Given the description of an element on the screen output the (x, y) to click on. 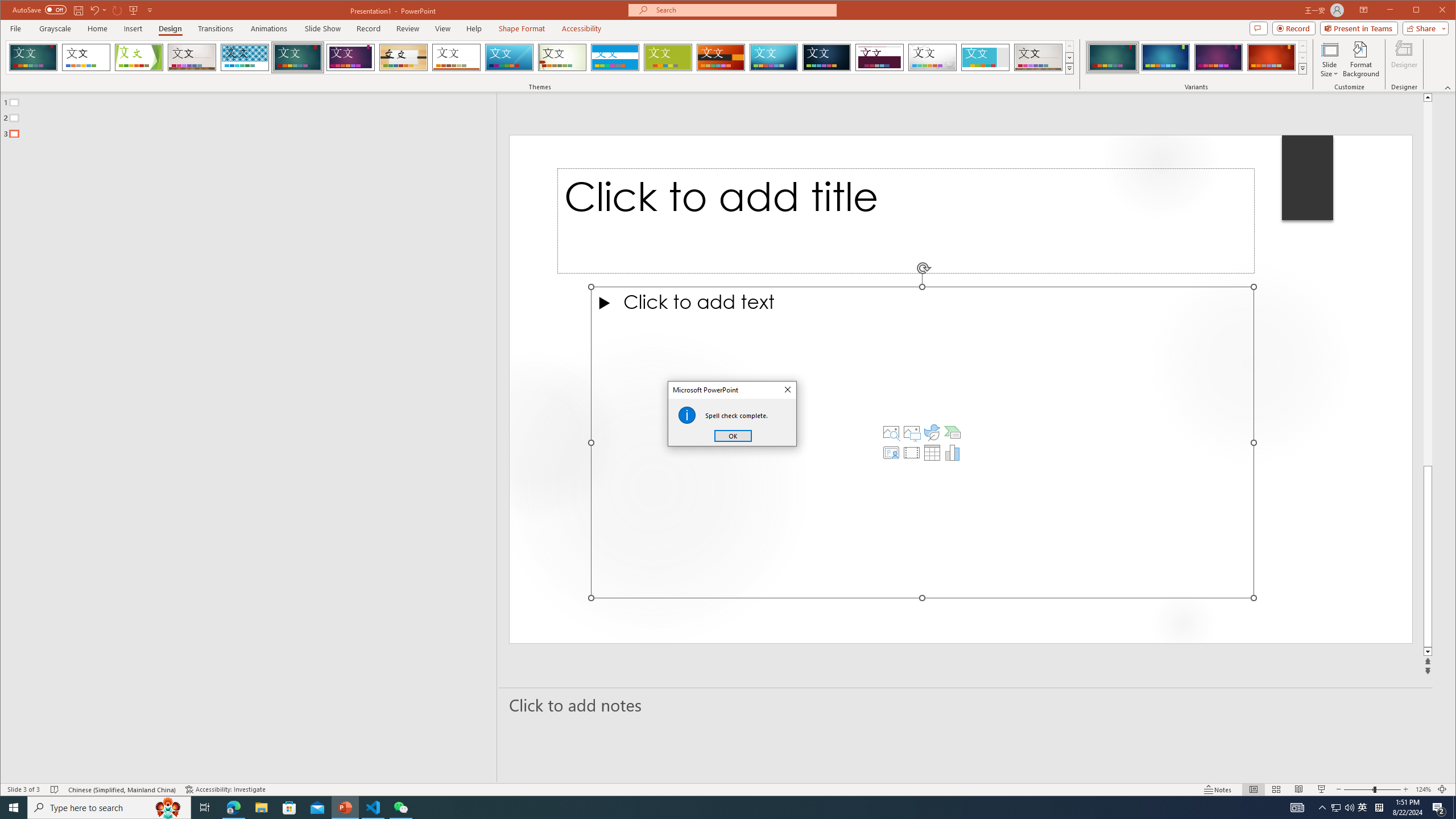
Ion Variant 4 (1270, 57)
Banded (615, 57)
